Given the description of an element on the screen output the (x, y) to click on. 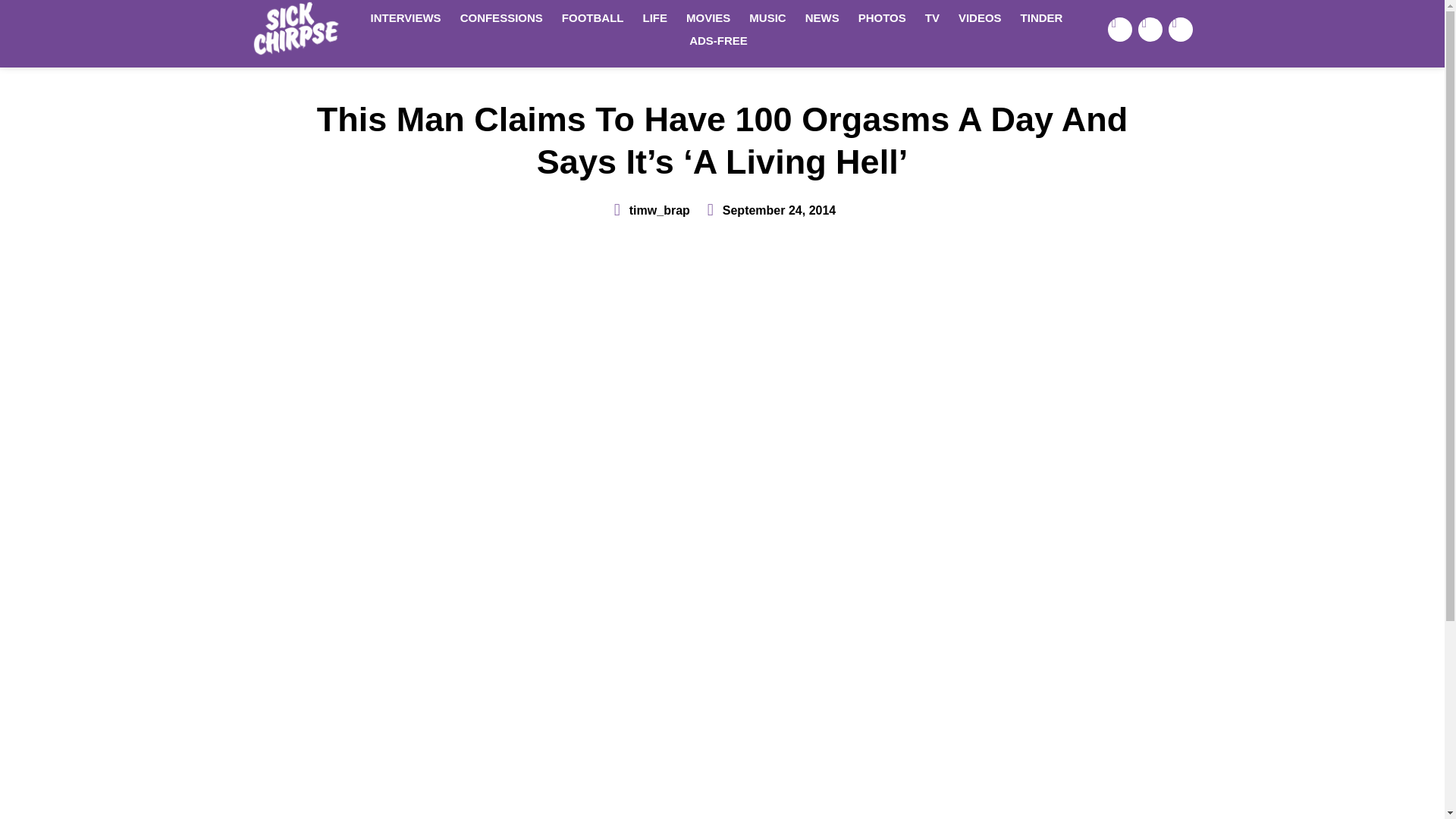
MUSIC (767, 17)
TINDER (1041, 17)
FOOTBALL (592, 17)
CONFESSIONS (501, 17)
NEWS (822, 17)
INTERVIEWS (405, 17)
ADS-FREE (718, 40)
LIFE (654, 17)
Twitter (1149, 29)
Instagram (1180, 29)
